Given the description of an element on the screen output the (x, y) to click on. 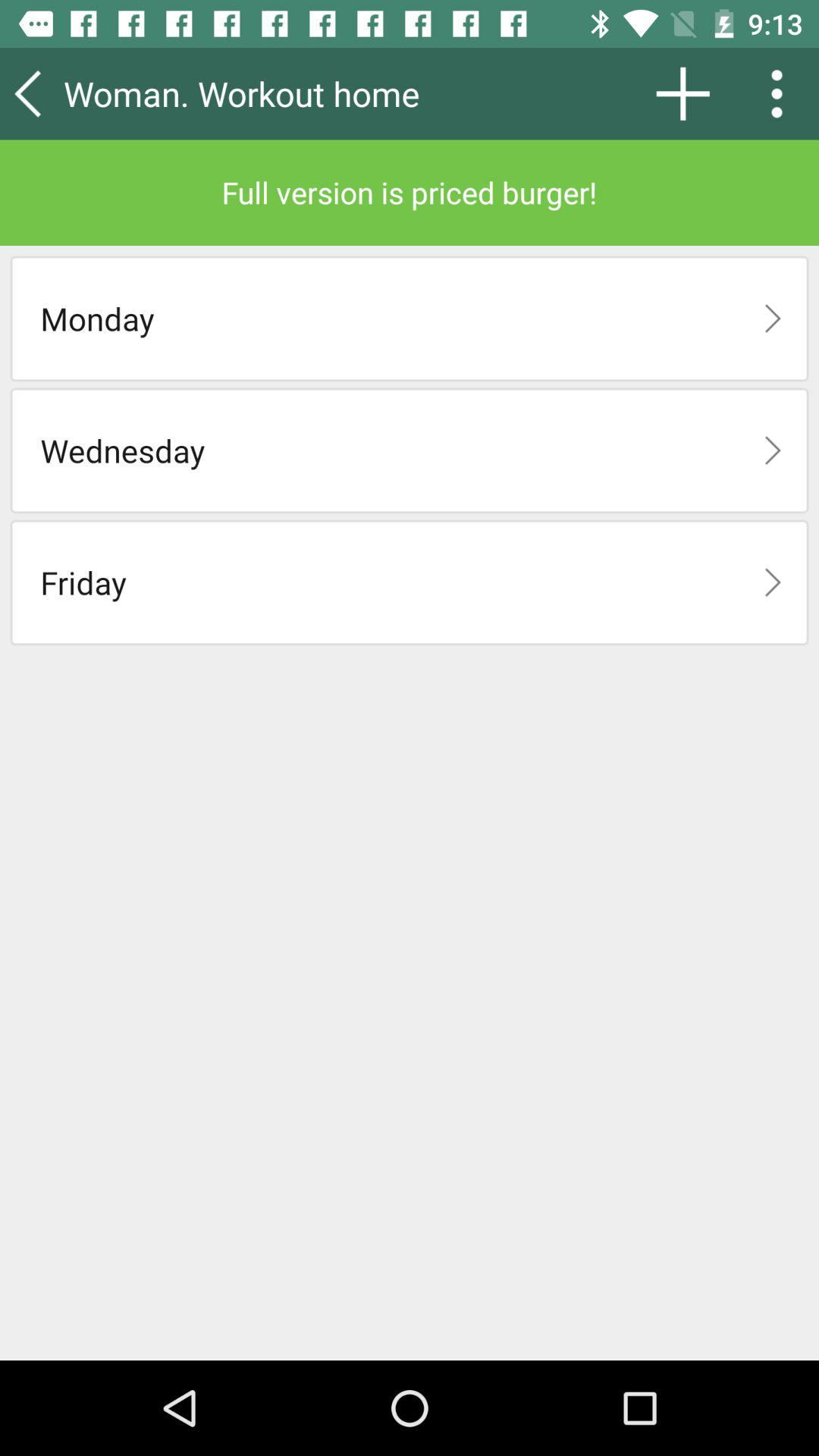
turn off the item to the right of the woman. workout home (682, 93)
